Given the description of an element on the screen output the (x, y) to click on. 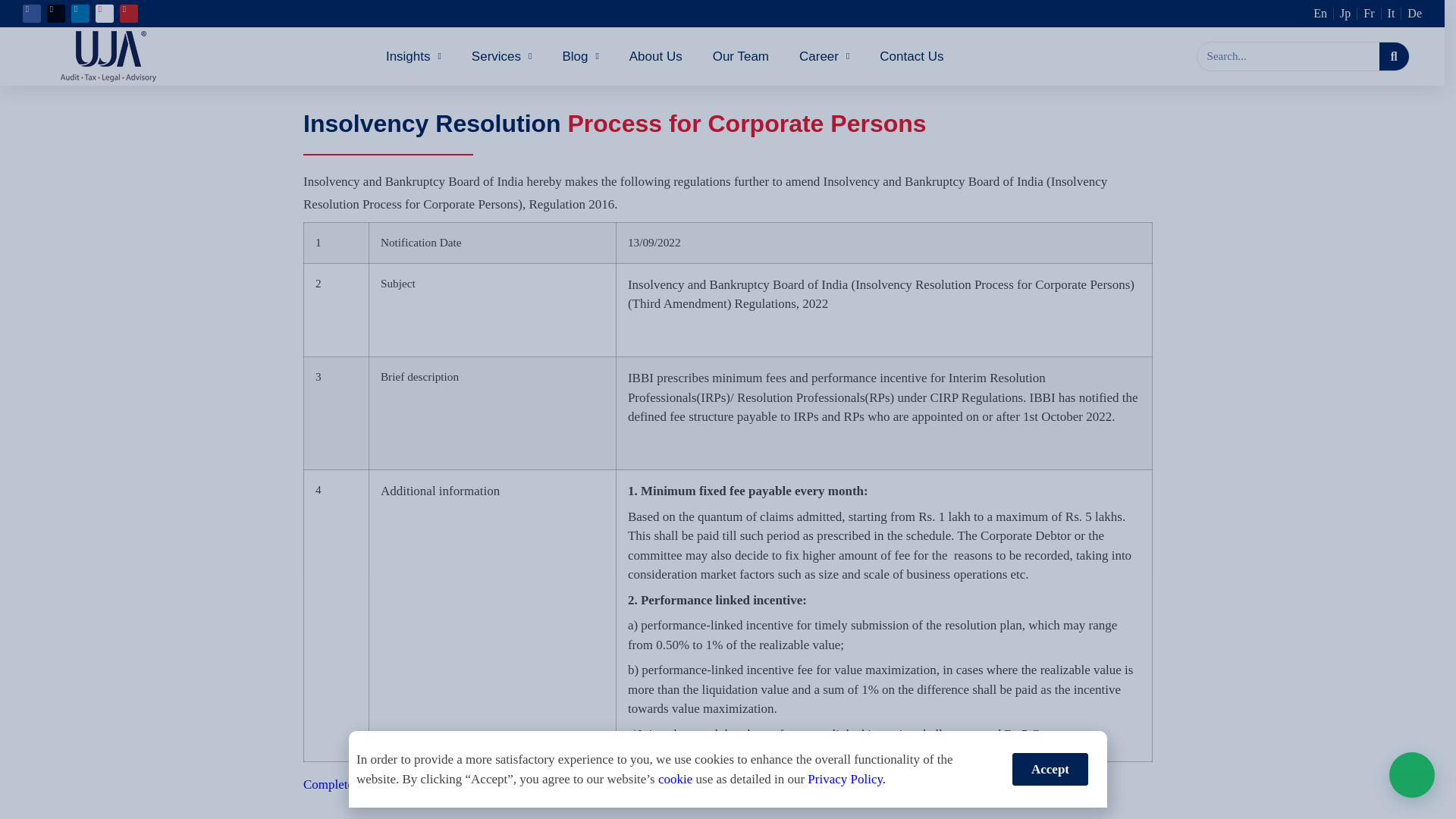
Blog (580, 56)
Our Team (740, 56)
About Us (655, 56)
Services (501, 56)
Insights (413, 56)
Career (823, 56)
